Given the description of an element on the screen output the (x, y) to click on. 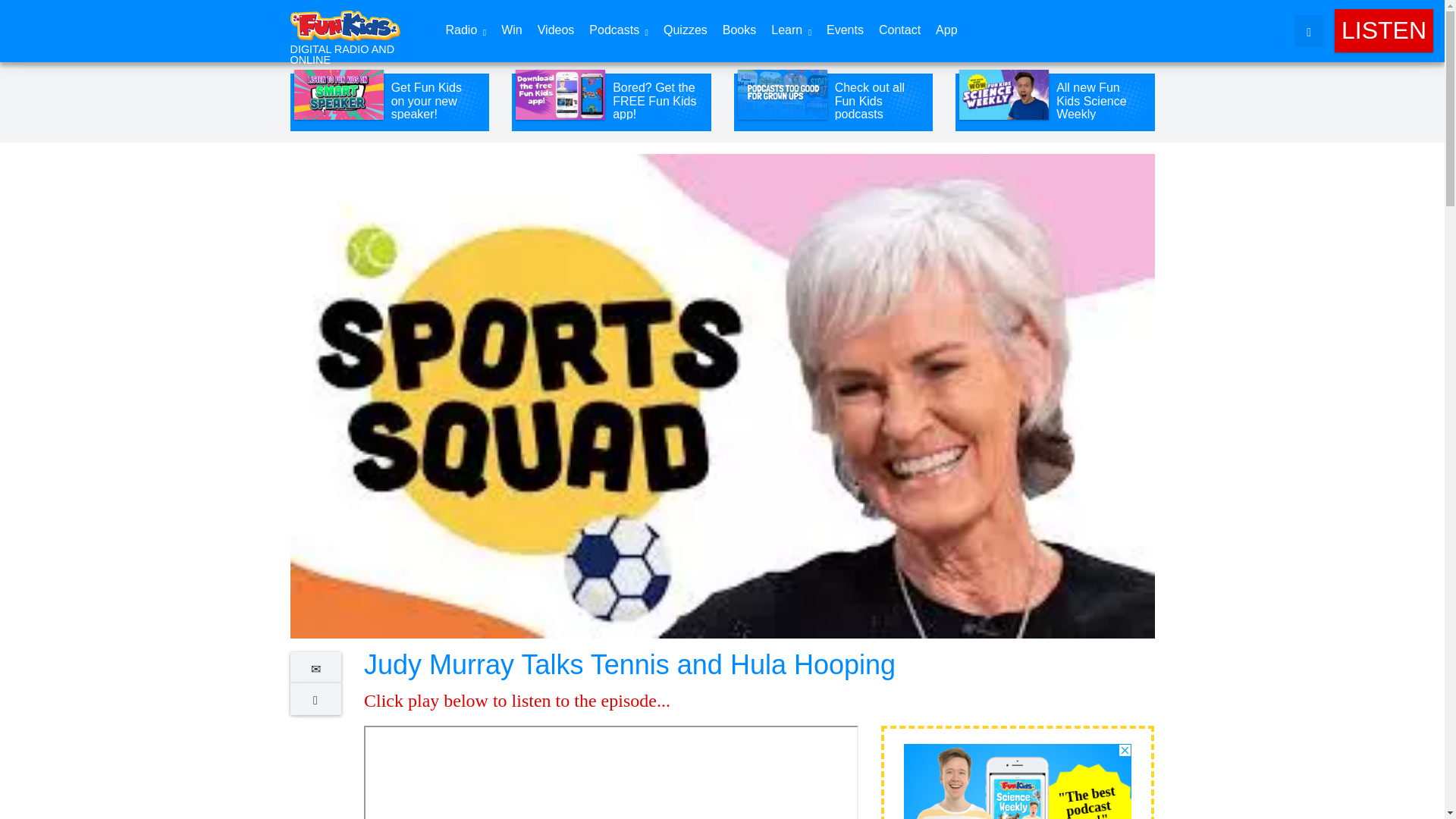
DIGITAL RADIO AND ONLINE (351, 32)
Podcasts (618, 31)
SEARCH (1308, 30)
Radio (466, 31)
Search (1117, 15)
Quizzes (685, 30)
LISTEN (1383, 30)
Learn (790, 31)
Search (1117, 15)
Radio (466, 31)
